Given the description of an element on the screen output the (x, y) to click on. 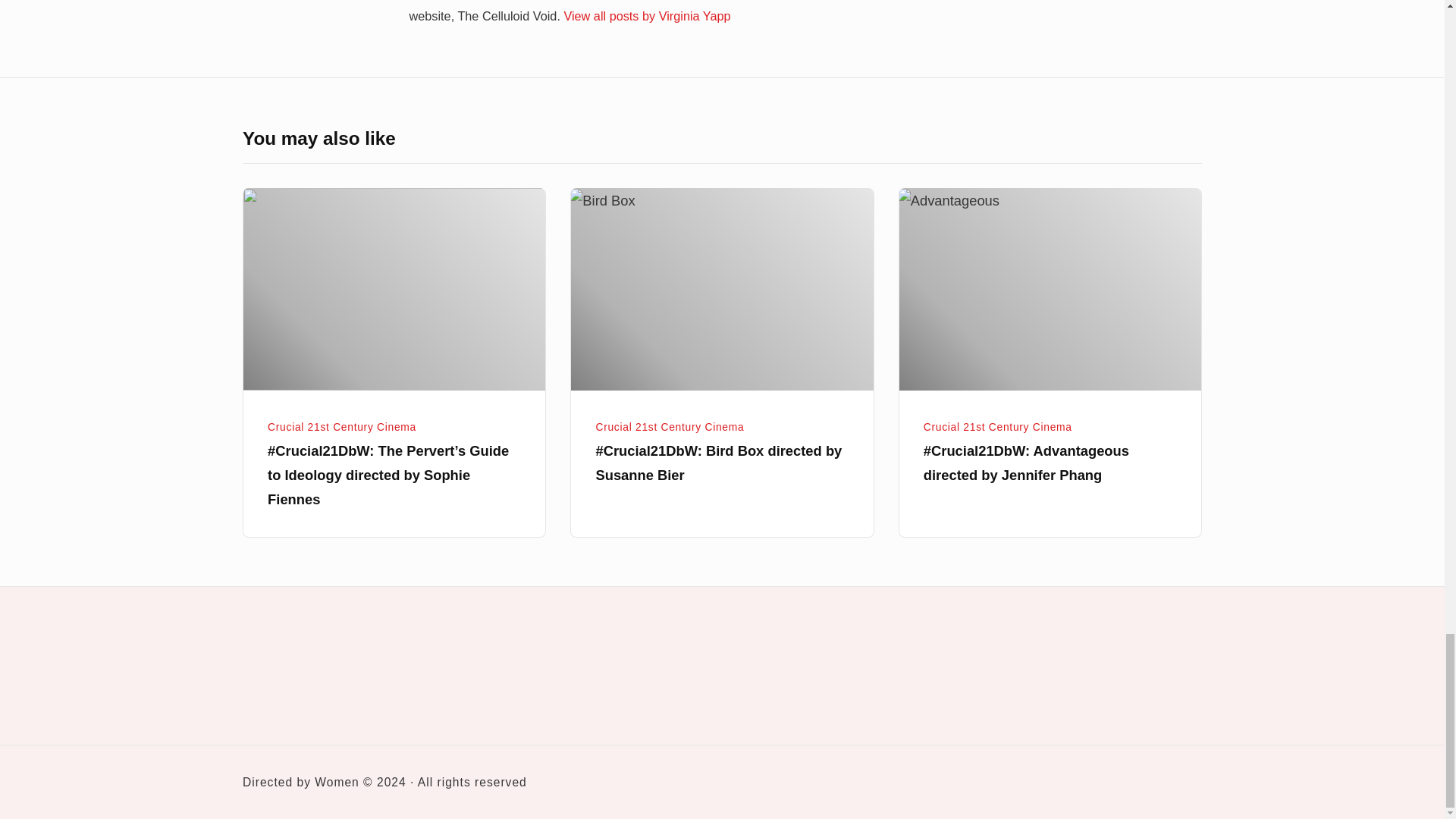
View all posts by Virginia Yapp (646, 15)
Crucial 21st Century Cinema (669, 426)
Crucial 21st Century Cinema (341, 426)
